Given the description of an element on the screen output the (x, y) to click on. 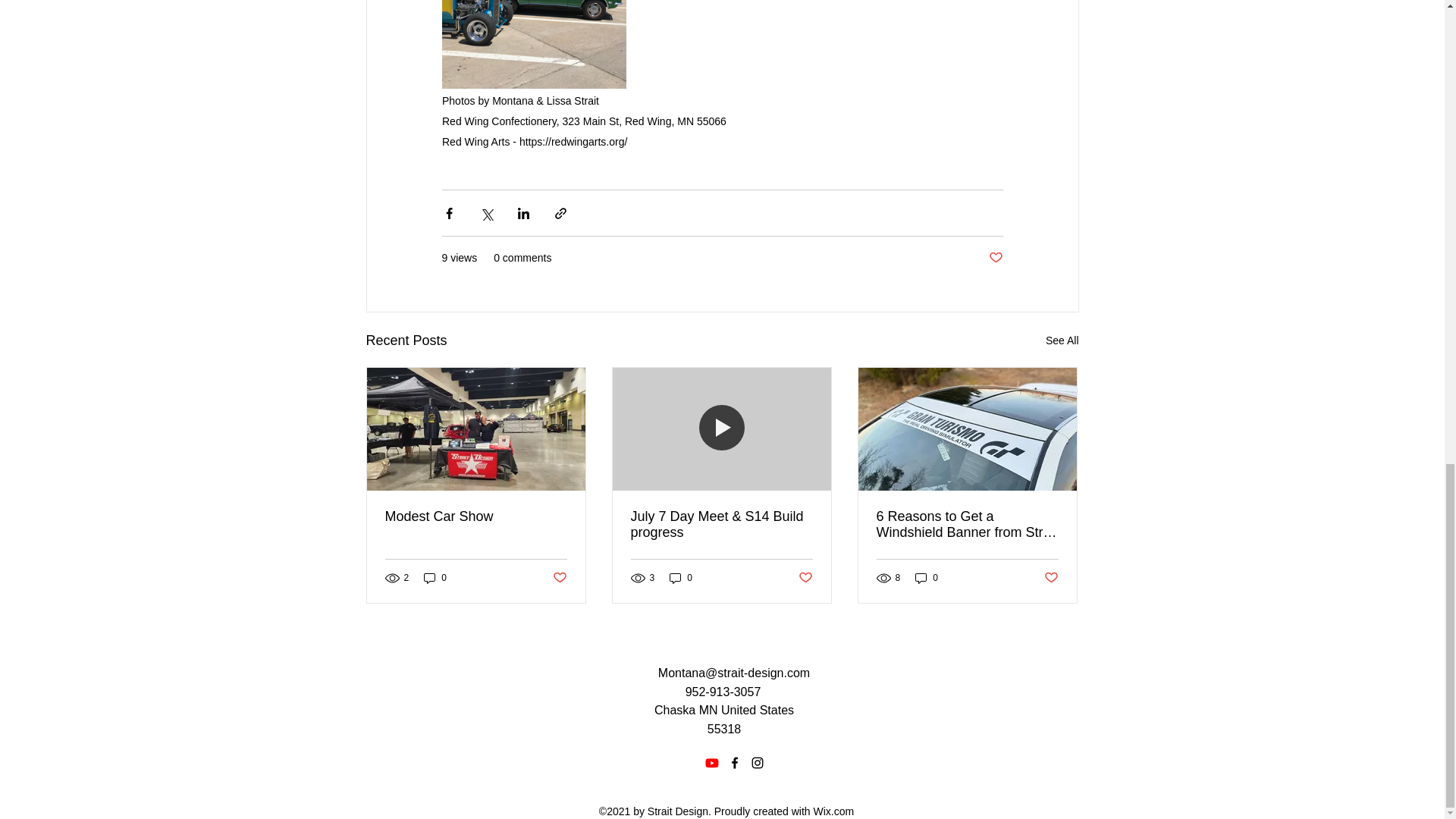
See All (1061, 341)
0 (681, 577)
Post not marked as liked (558, 578)
0 (435, 577)
Modest Car Show (476, 516)
Post not marked as liked (995, 258)
